Given the description of an element on the screen output the (x, y) to click on. 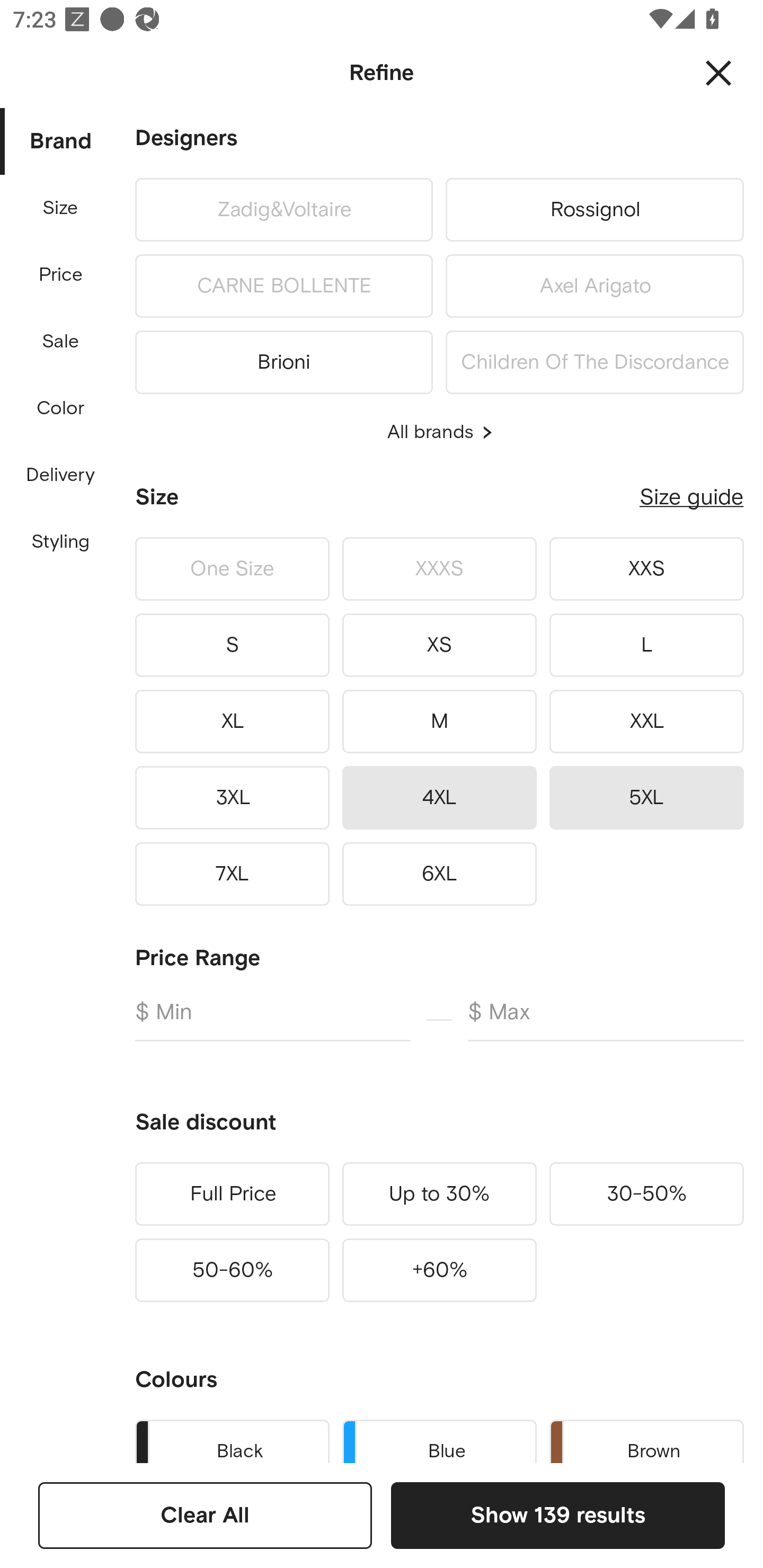
Brand (60, 141)
Size (60, 208)
Zadig&Voltaire (283, 208)
Rossignol (594, 208)
Price (60, 274)
CARNE BOLLENTE (283, 285)
Axel Arigato (594, 285)
Sale (60, 342)
Brioni (283, 358)
Children Of The Discordance (594, 358)
Color (60, 408)
All brands (439, 431)
Delivery (60, 475)
Size guide (691, 496)
Styling (60, 542)
One Size (232, 568)
XXXS (439, 568)
XXS (646, 568)
S (232, 644)
XS (439, 644)
L (646, 644)
XL (232, 720)
M (439, 720)
XXL (646, 720)
3XL (232, 796)
4XL (439, 796)
5XL (646, 796)
7XL (232, 873)
6XL (439, 873)
$ Min (272, 1019)
$ Max (605, 1019)
Full Price (232, 1193)
Up to 30% (439, 1193)
30-50% (646, 1193)
50-60% (232, 1269)
+60% (439, 1269)
Black (232, 1437)
Blue (439, 1437)
Brown (646, 1437)
Clear All (205, 1515)
Show 139 results (557, 1515)
